Given the description of an element on the screen output the (x, y) to click on. 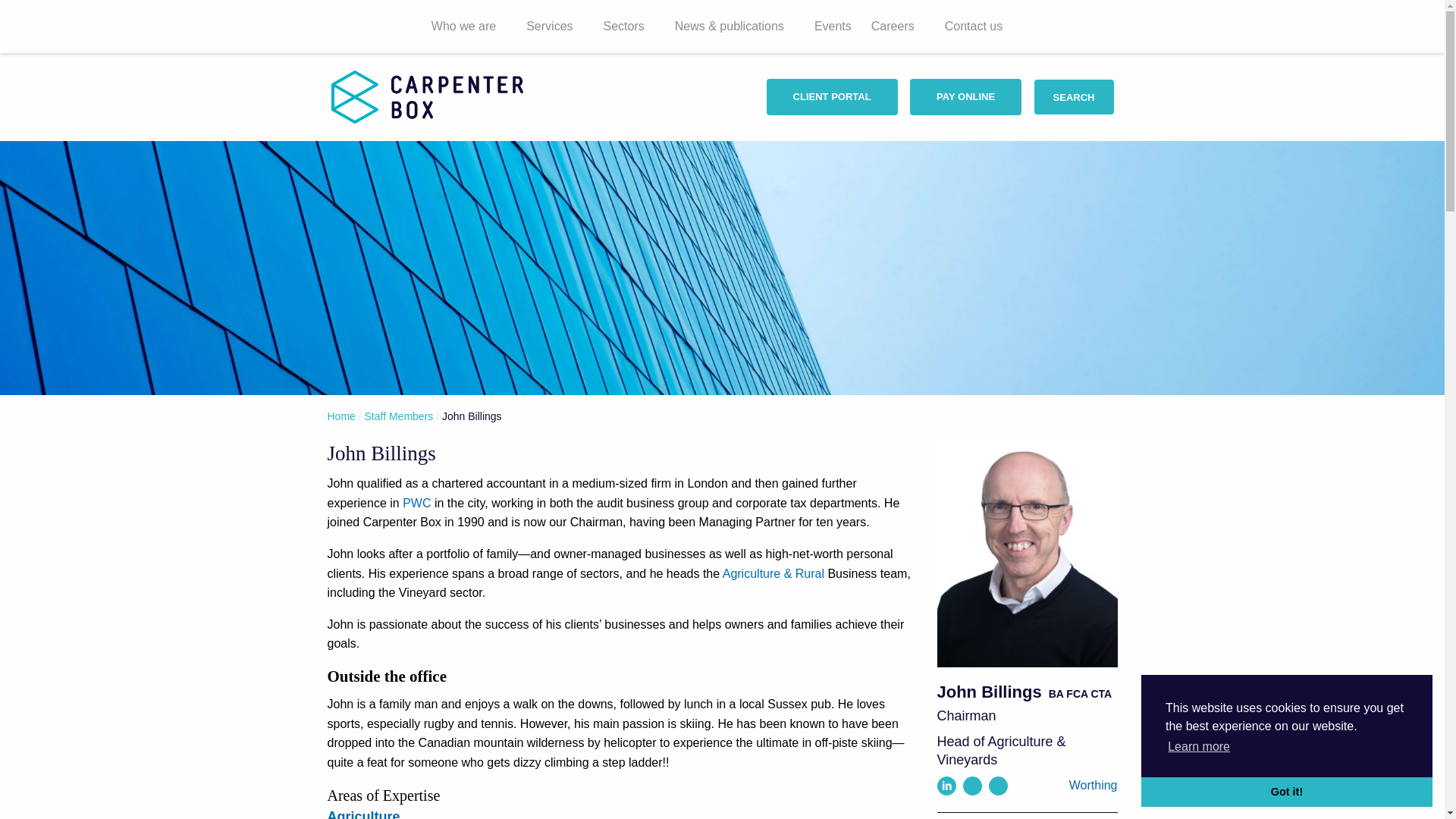
Learn more (1198, 746)
Got it! (1286, 791)
